Given the description of an element on the screen output the (x, y) to click on. 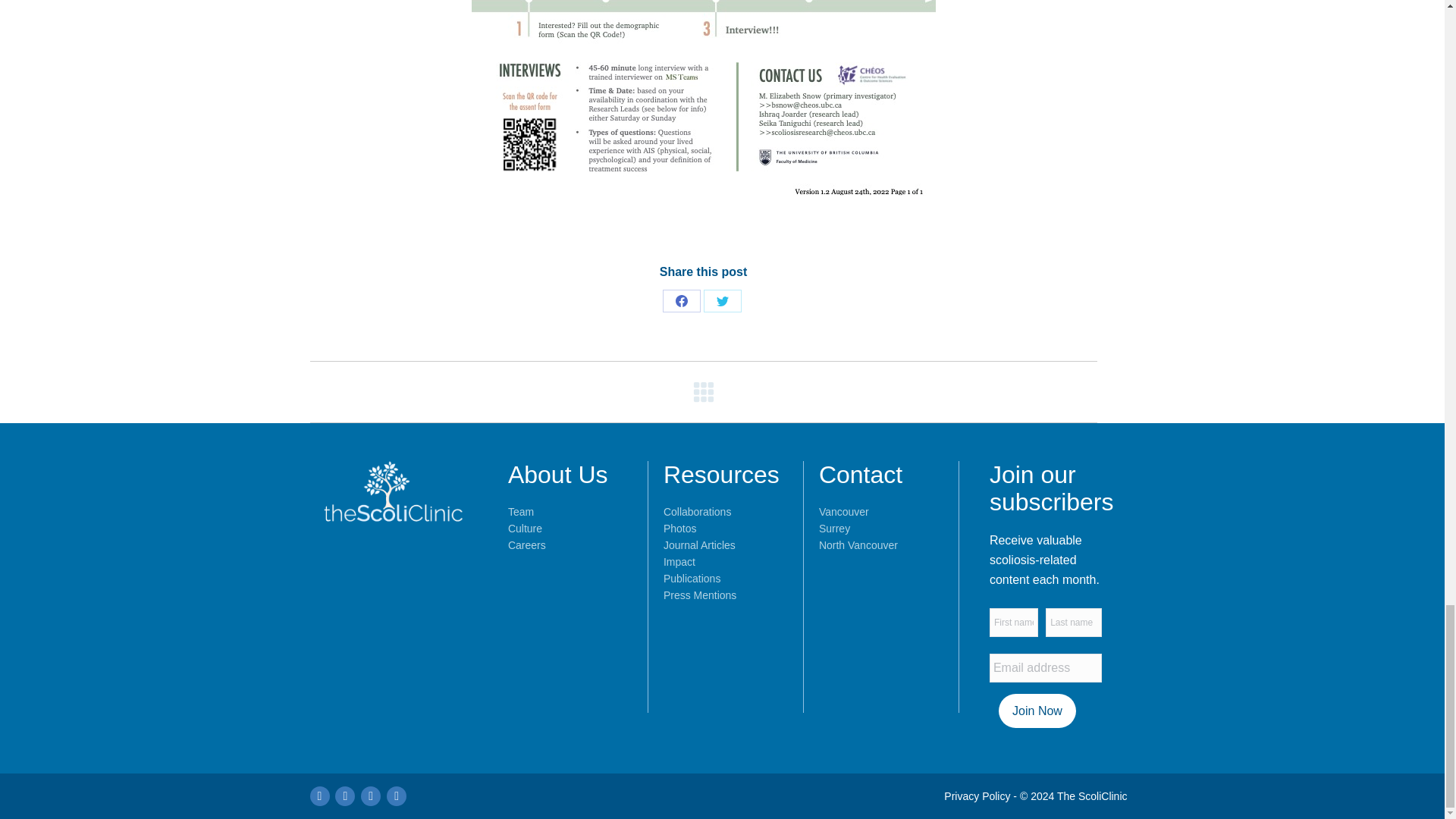
Facebook (681, 300)
Join Now (1036, 710)
Facebook (370, 795)
Instagram (344, 795)
Linkedin (396, 795)
Twitter (722, 300)
Youtube (318, 795)
